Given the description of an element on the screen output the (x, y) to click on. 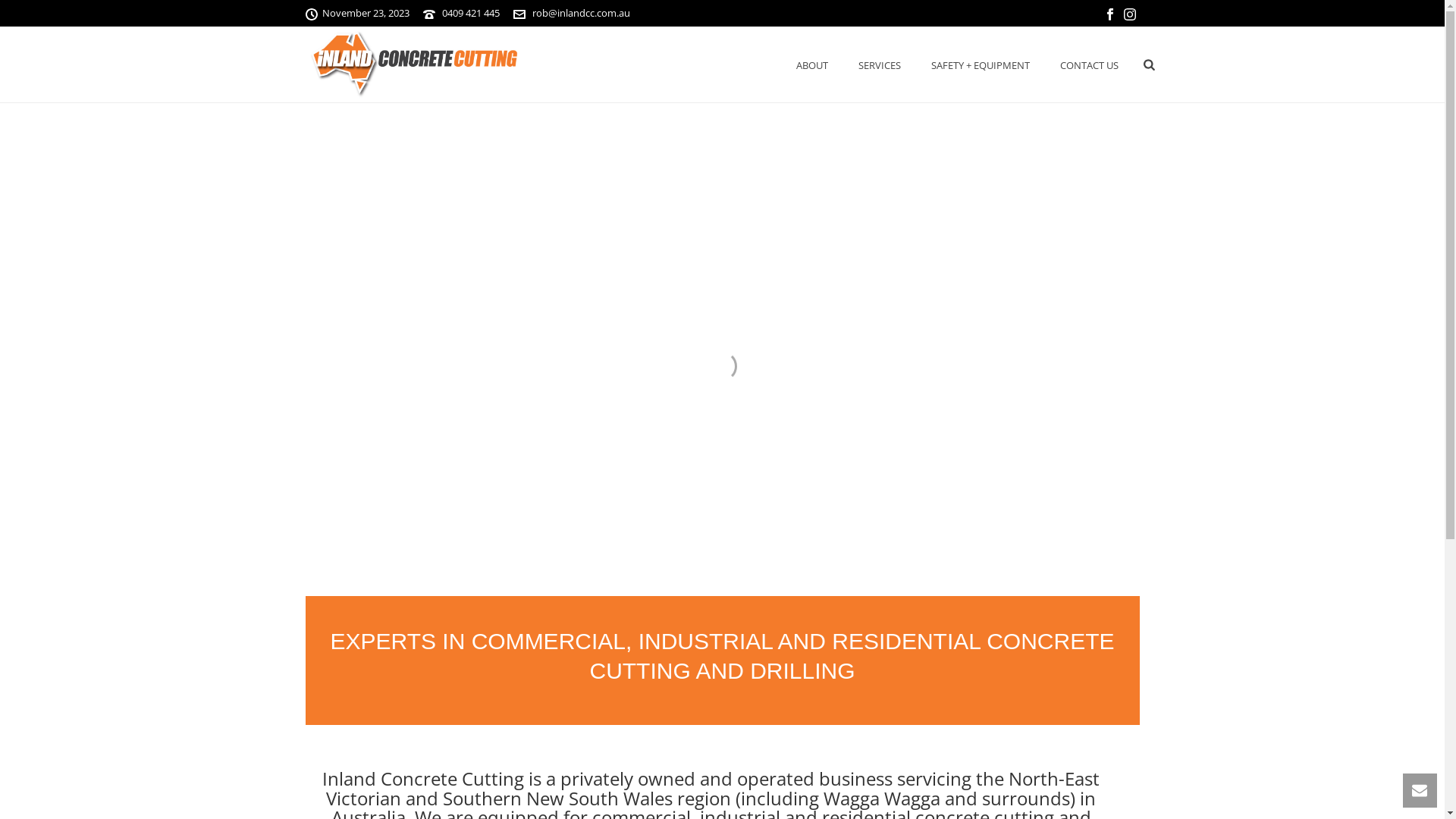
CONTACT US Element type: text (1088, 65)
ABOUT Element type: text (812, 65)
rob@inlandcc.com.au Element type: text (581, 12)
0409 421 445 Element type: text (469, 12)
SAFETY + EQUIPMENT Element type: text (980, 65)
SERVICES Element type: text (879, 65)
